Given the description of an element on the screen output the (x, y) to click on. 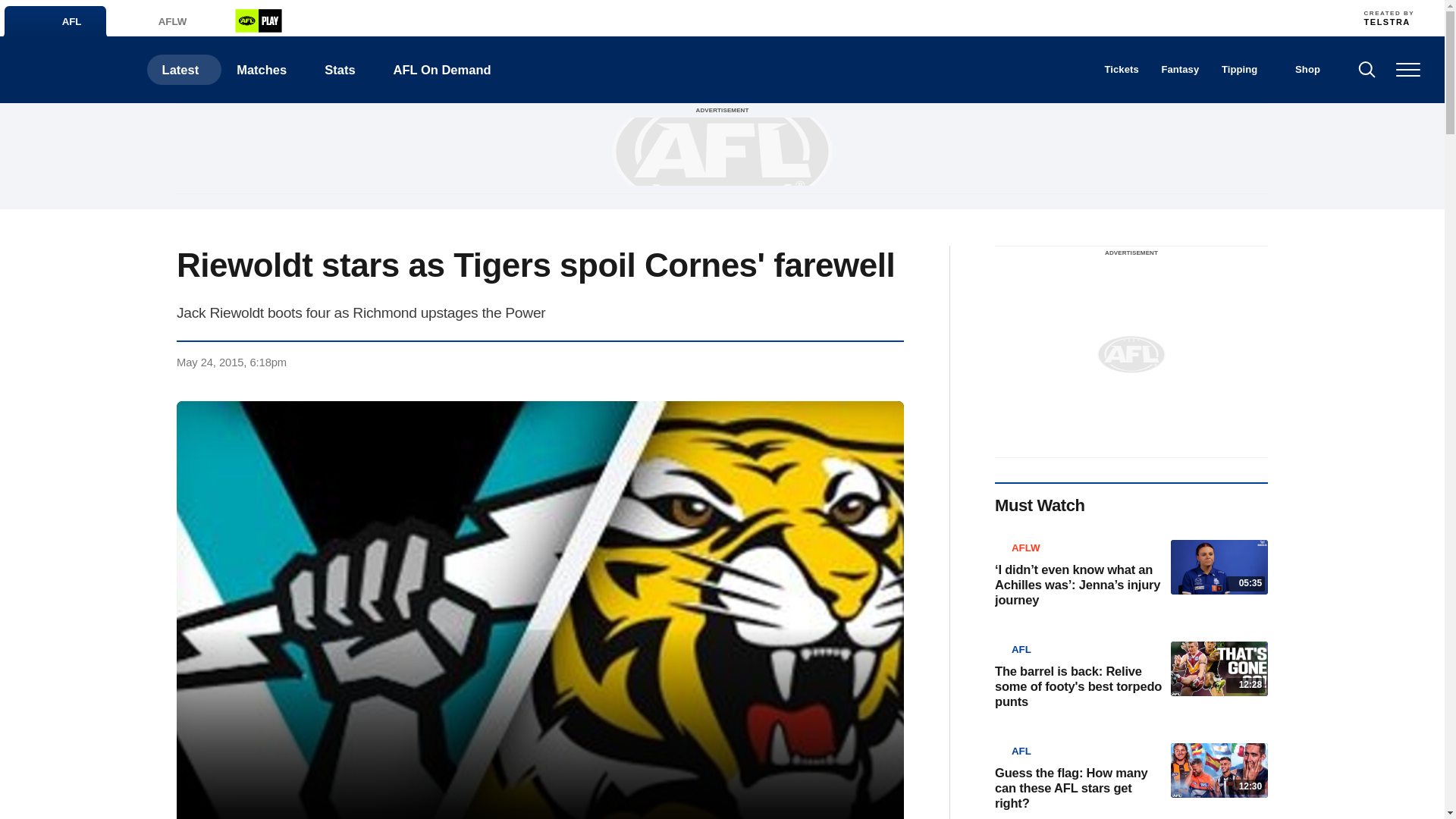
Melbourne (871, 17)
Adelaide Crows (537, 17)
Fremantle (704, 17)
North Melbourne (904, 17)
Collingwood (637, 17)
AFLW (155, 21)
St Kilda (1004, 17)
Port Adelaide (938, 17)
Sydney Swans (1037, 17)
Latest (184, 69)
AFL Play (258, 20)
AFL Logo (73, 69)
Brisbane (571, 17)
Footscray (1104, 17)
Essendon (670, 17)
